Given the description of an element on the screen output the (x, y) to click on. 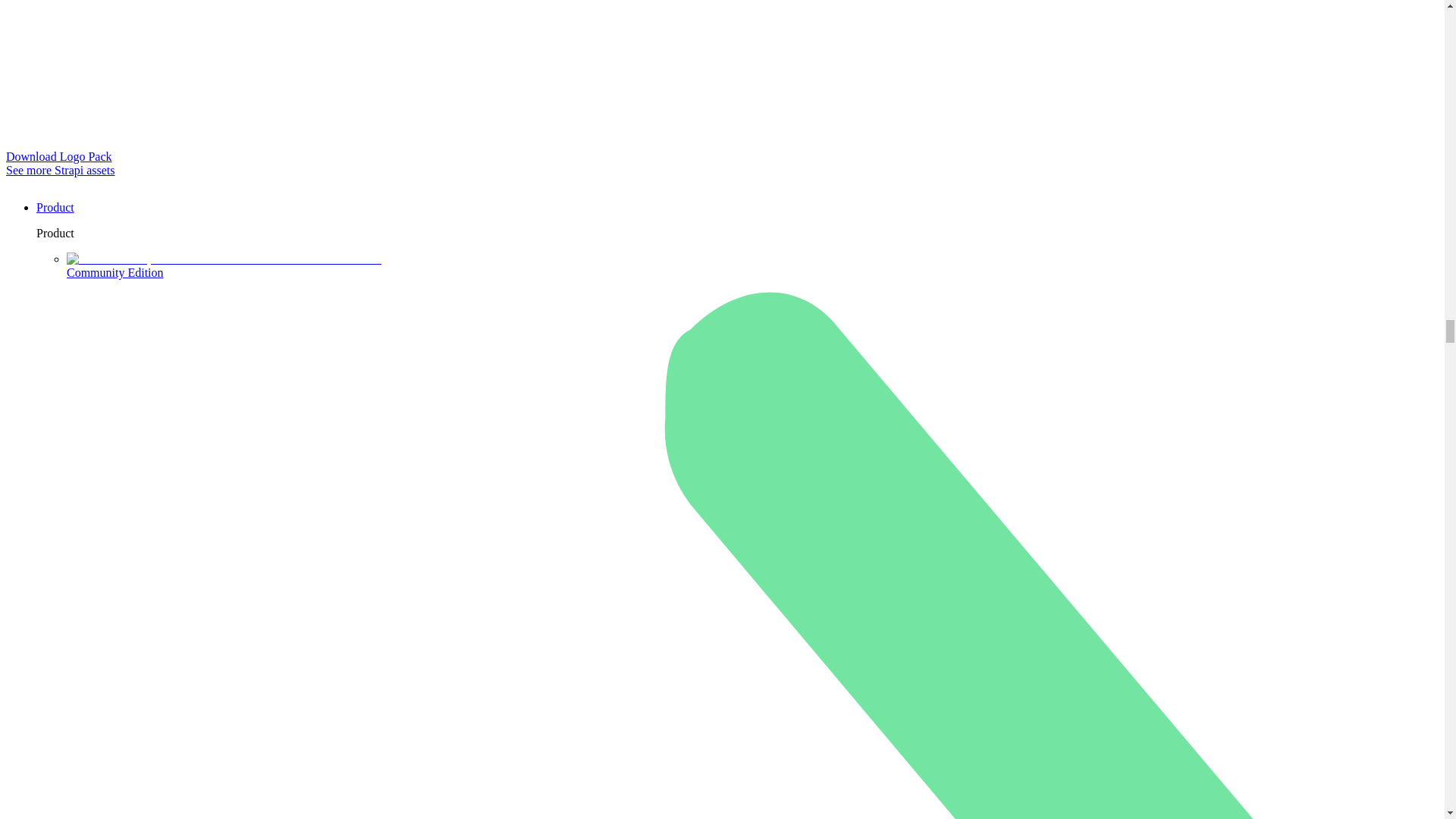
See more Strapi assets (60, 169)
Download Logo Pack (58, 155)
